Given the description of an element on the screen output the (x, y) to click on. 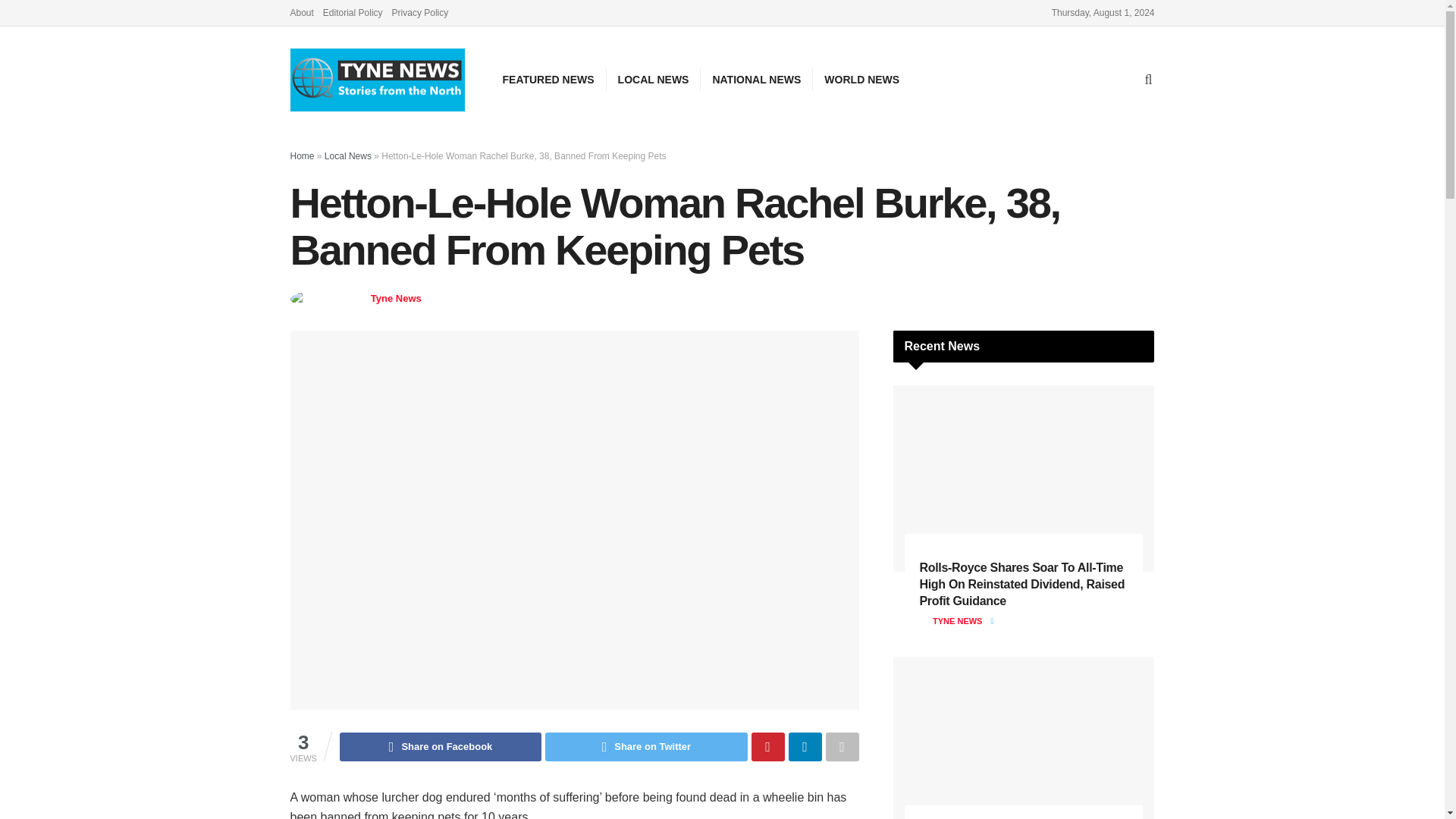
December 5, 2022 (488, 297)
Tyne News (396, 297)
LOCAL NEWS (653, 78)
NATIONAL NEWS (756, 78)
WORLD NEWS (861, 78)
Privacy Policy (419, 12)
Local News (574, 297)
Share on Facebook (440, 746)
Editorial Policy (352, 12)
Share on Twitter (645, 746)
FEATURED NEWS (548, 78)
Home (301, 155)
About (301, 12)
Local News (347, 155)
